Given the description of an element on the screen output the (x, y) to click on. 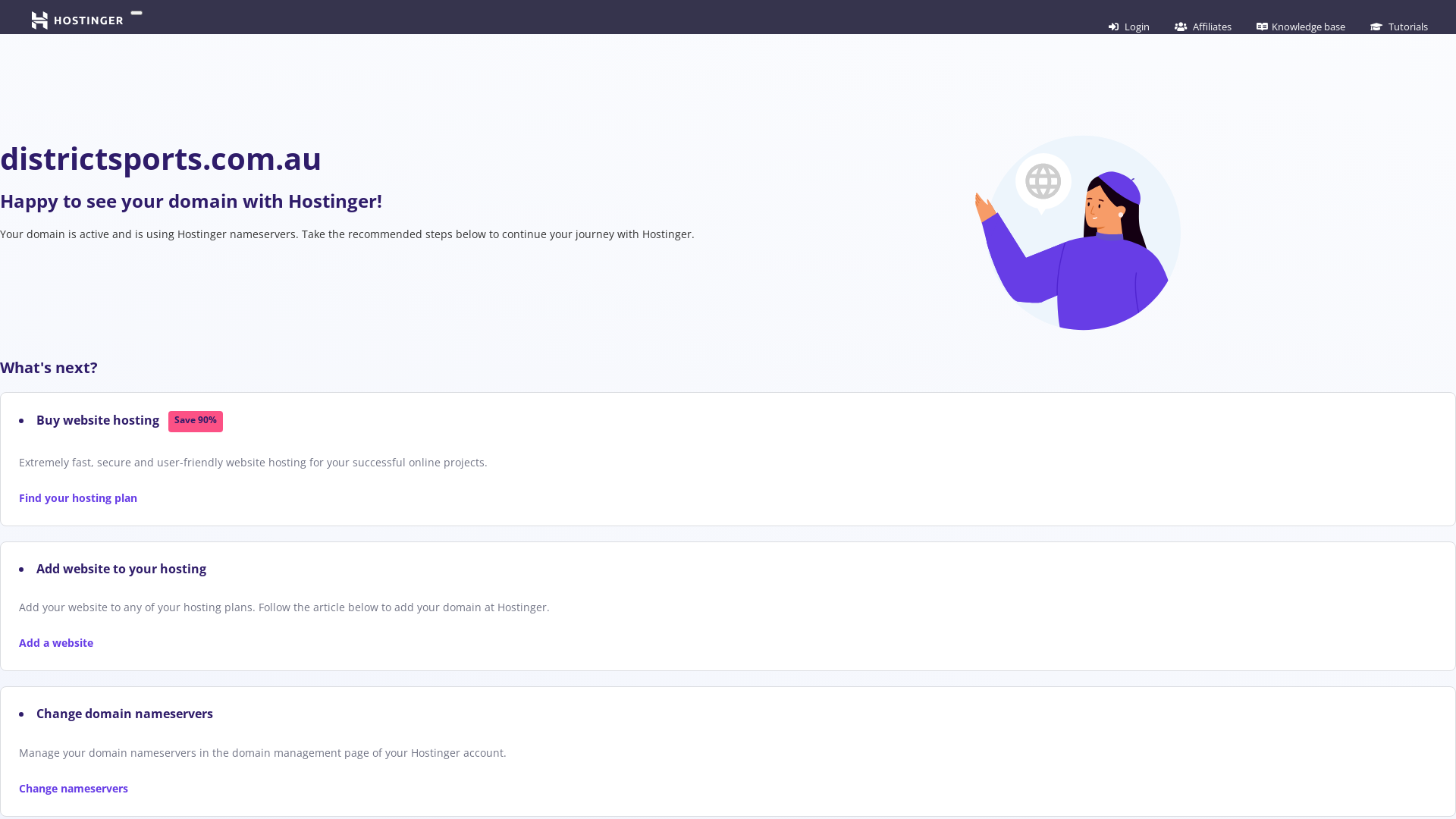
Login Element type: text (1128, 26)
Affiliates Element type: text (1202, 26)
Tutorials Element type: text (1398, 26)
Change nameservers Element type: text (73, 788)
Add a website Element type: text (55, 642)
Knowledge base Element type: text (1300, 26)
Find your hosting plan Element type: text (77, 497)
